Given the description of an element on the screen output the (x, y) to click on. 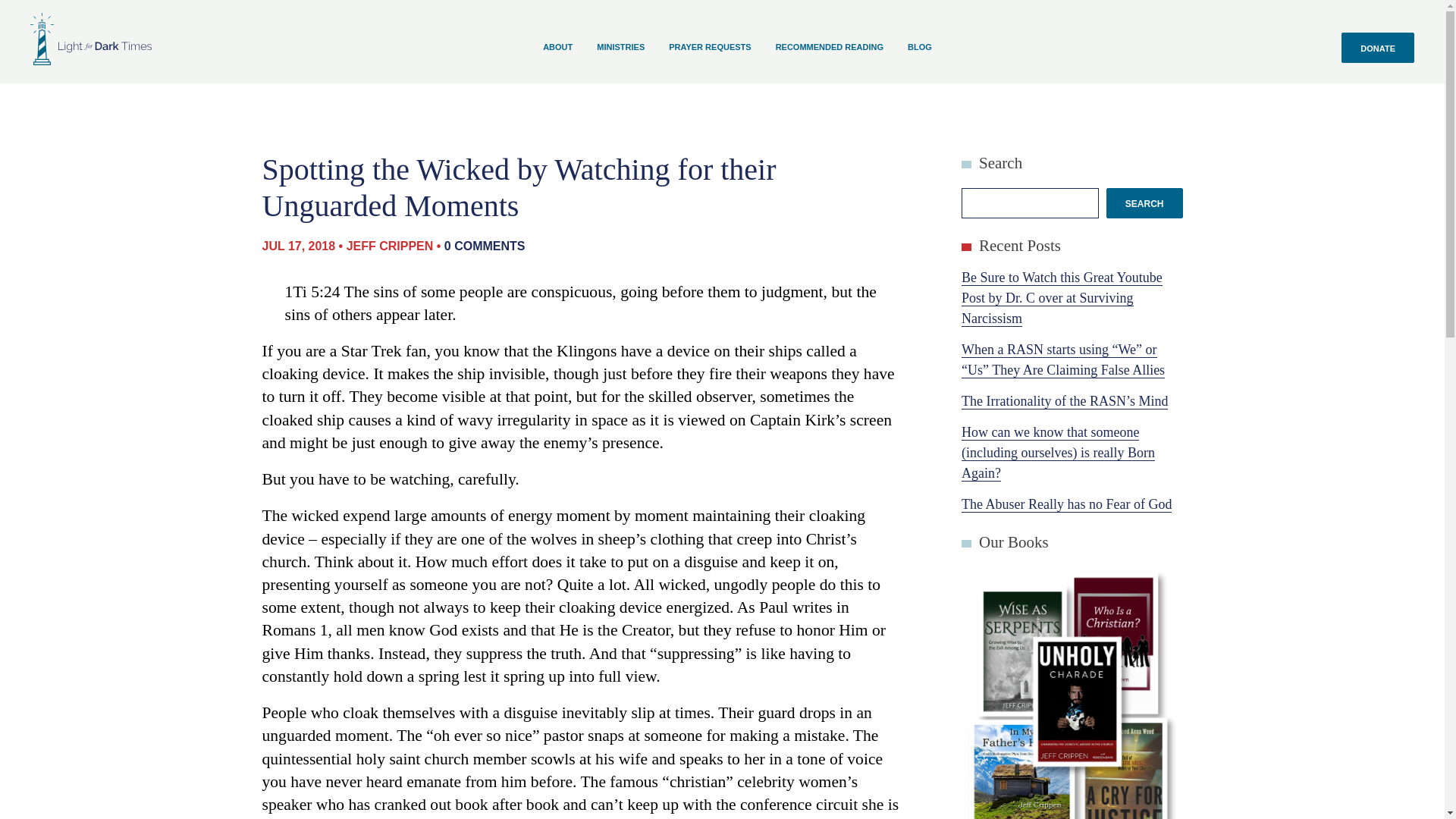
ABOUT (557, 47)
MINISTRIES (620, 47)
BLOG (919, 47)
Donate (1376, 46)
DONATE (1376, 46)
PRAYER REQUESTS (709, 47)
RECOMMENDED READING (829, 47)
The Abuser Really has no Fear of God (1066, 504)
SEARCH (1144, 203)
